Given the description of an element on the screen output the (x, y) to click on. 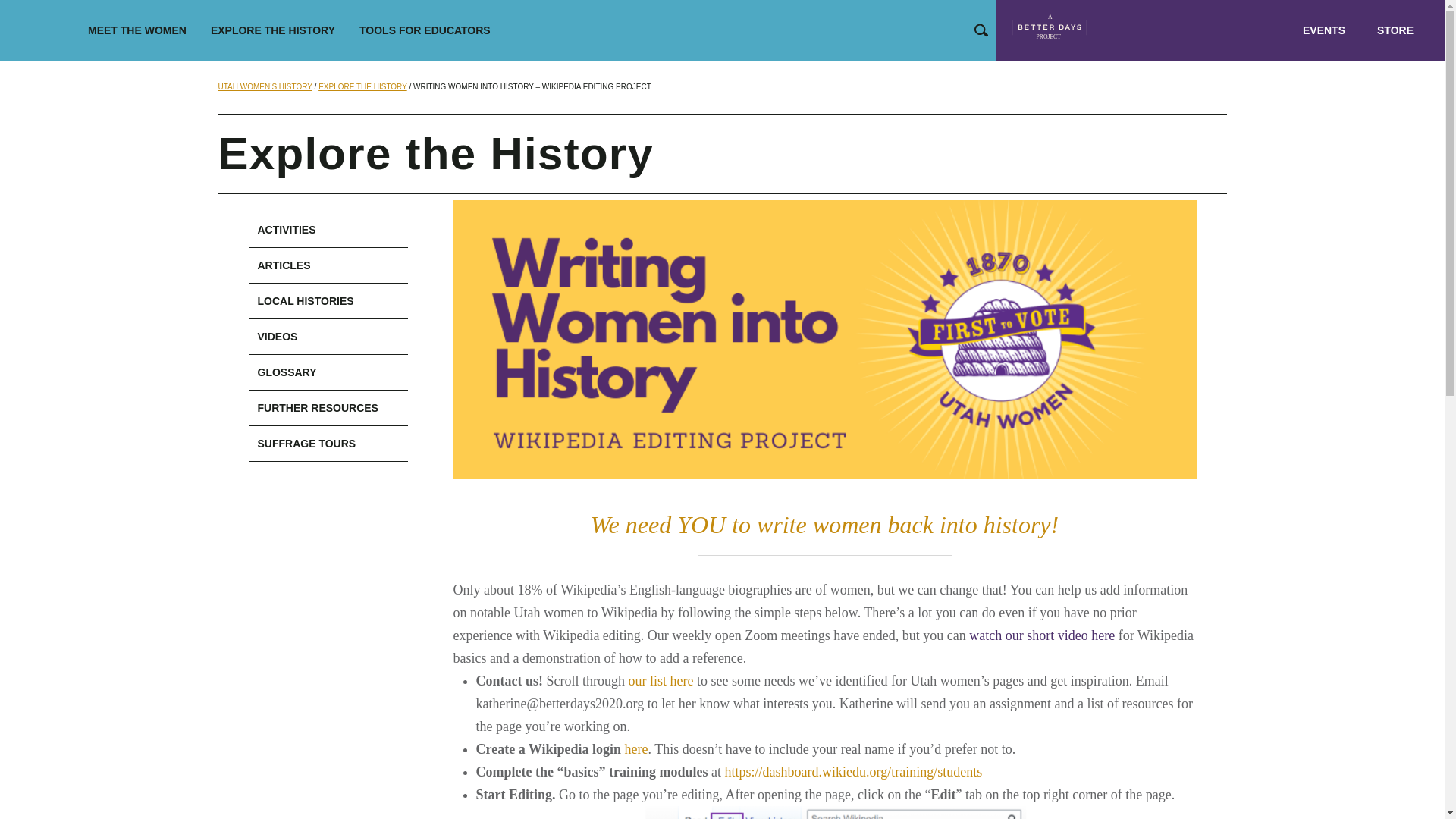
our list here (660, 680)
VIDEOS (327, 336)
Search (980, 30)
FURTHER RESOURCES (327, 407)
STORE (1395, 30)
LOCAL HISTORIES (327, 301)
EVENTS (1323, 30)
MEET THE WOMEN (136, 30)
watch our short video here (1042, 635)
EXPLORE THE HISTORY (362, 86)
TOOLS FOR EDUCATORS (424, 30)
ARTICLES (327, 265)
GLOSSARY (327, 372)
here (635, 749)
EXPLORE THE HISTORY (272, 30)
